Given the description of an element on the screen output the (x, y) to click on. 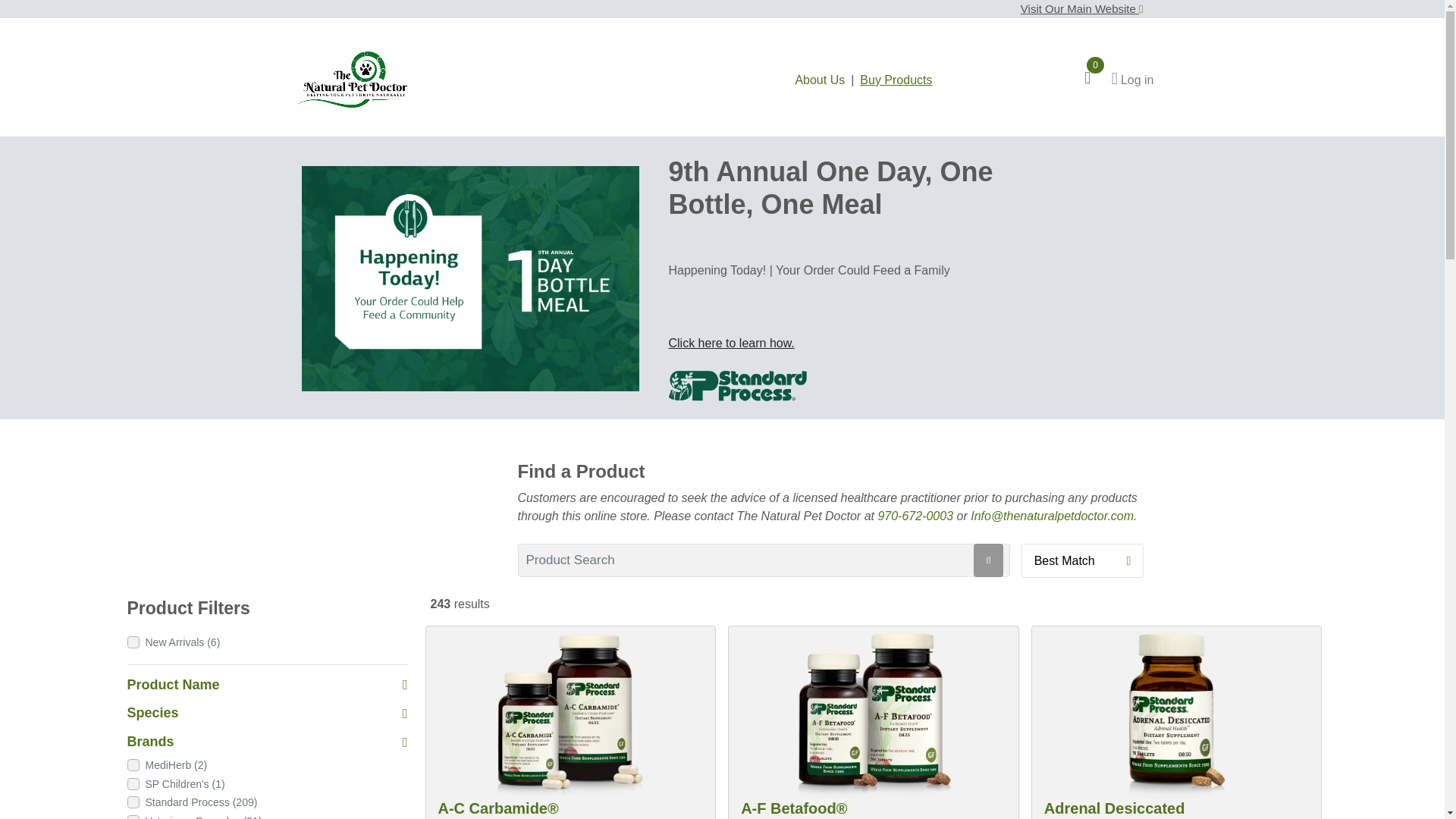
Best Match (1083, 560)
About Us (819, 79)
Log in (1132, 79)
The Farm at Standard Process (470, 278)
Adrenal Desiccated (1114, 809)
Buy Products (895, 79)
Visit Our Main Website (1081, 8)
Visit Standard Process's Website (737, 385)
Click here to learn how. (731, 342)
0 (1096, 78)
